Given the description of an element on the screen output the (x, y) to click on. 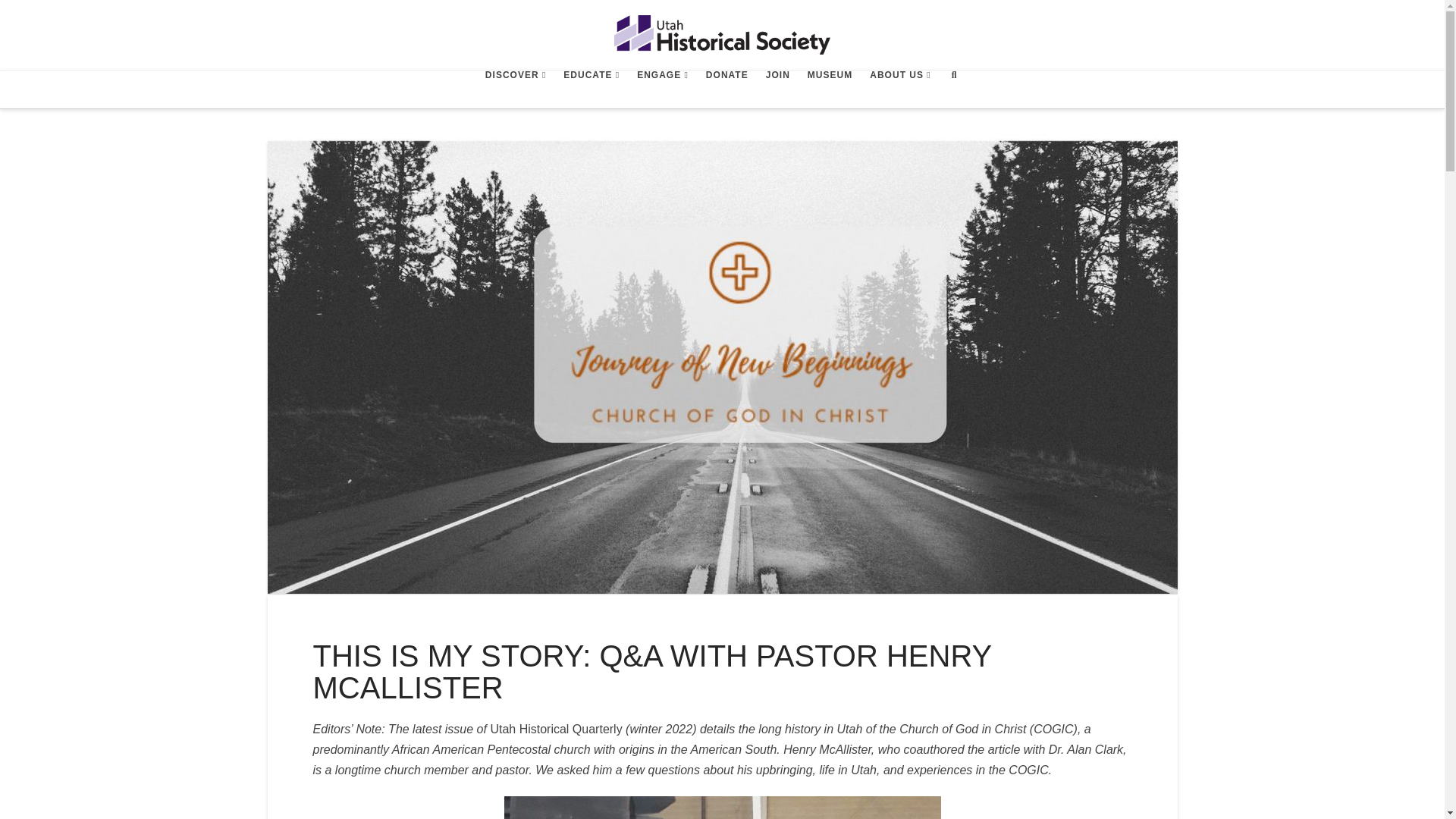
DONATE (727, 89)
MUSEUM (828, 89)
JOIN (777, 89)
ABOUT US (899, 89)
EDUCATE (590, 89)
ENGAGE (662, 89)
DISCOVER (515, 89)
